Given the description of an element on the screen output the (x, y) to click on. 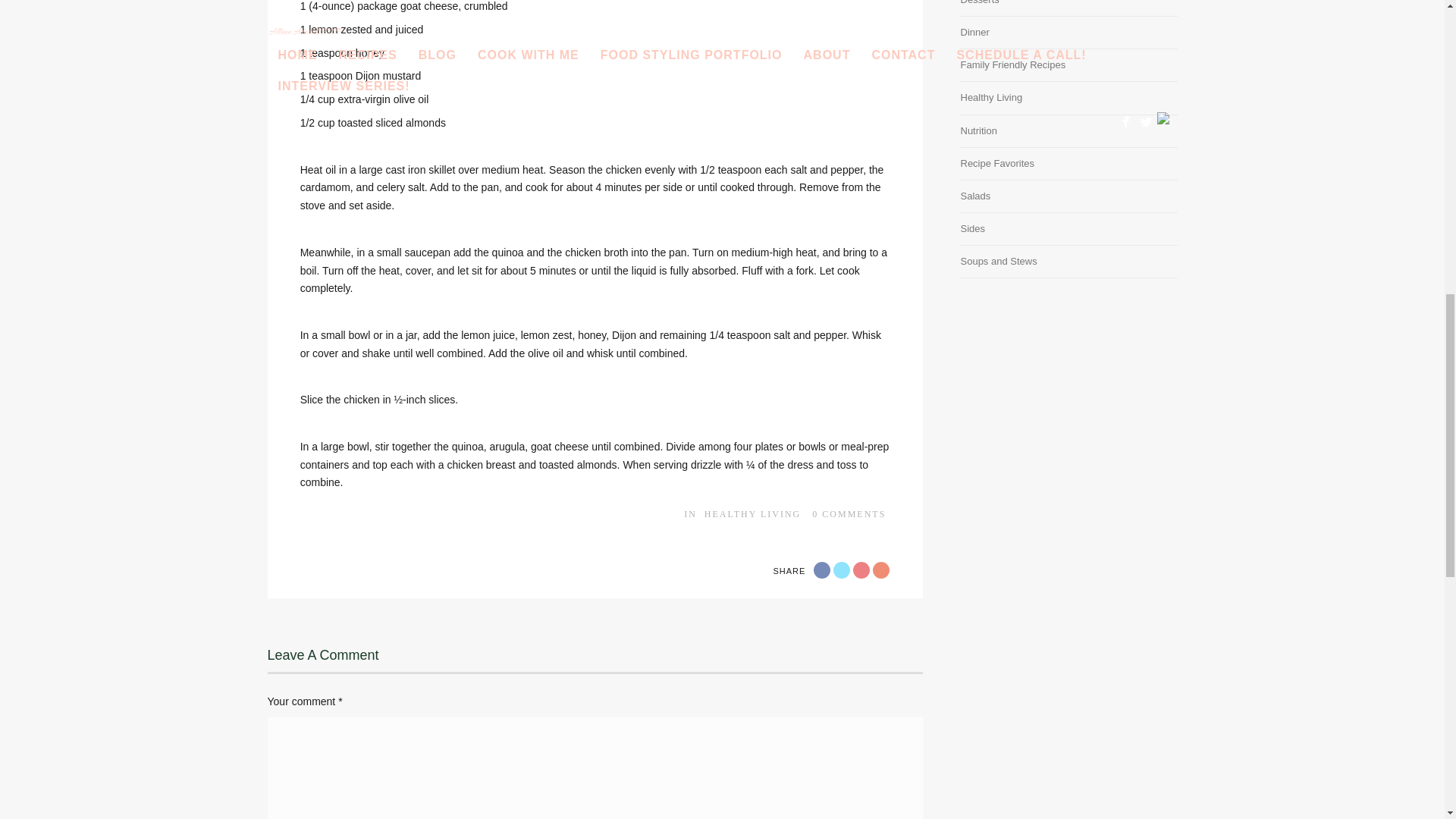
HEALTHY LIVING (752, 513)
Salads (974, 195)
Desserts (978, 4)
Twitter (841, 569)
Facebook (821, 569)
Family Friendly Recipes (1012, 64)
Dinner (973, 31)
Soups and Stews (997, 261)
Nutrition (977, 130)
Pinterest (880, 569)
Sides (972, 228)
0 COMMENTS (848, 513)
Recipe Favorites (996, 162)
Healthy Living (990, 97)
